Given the description of an element on the screen output the (x, y) to click on. 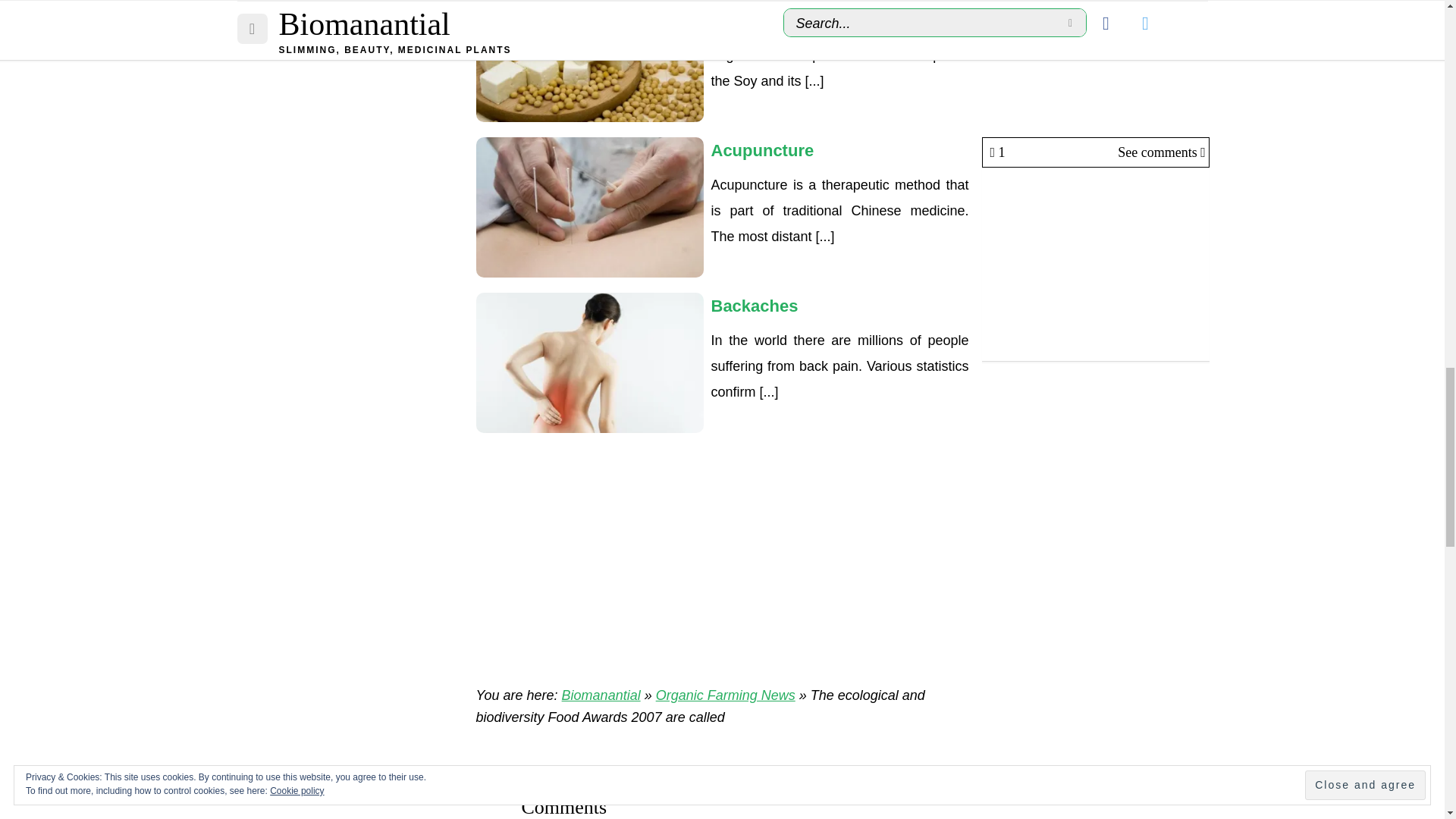
Backaches (589, 362)
Proteins of plant origin (589, 65)
Acupuncture (589, 207)
